Given the description of an element on the screen output the (x, y) to click on. 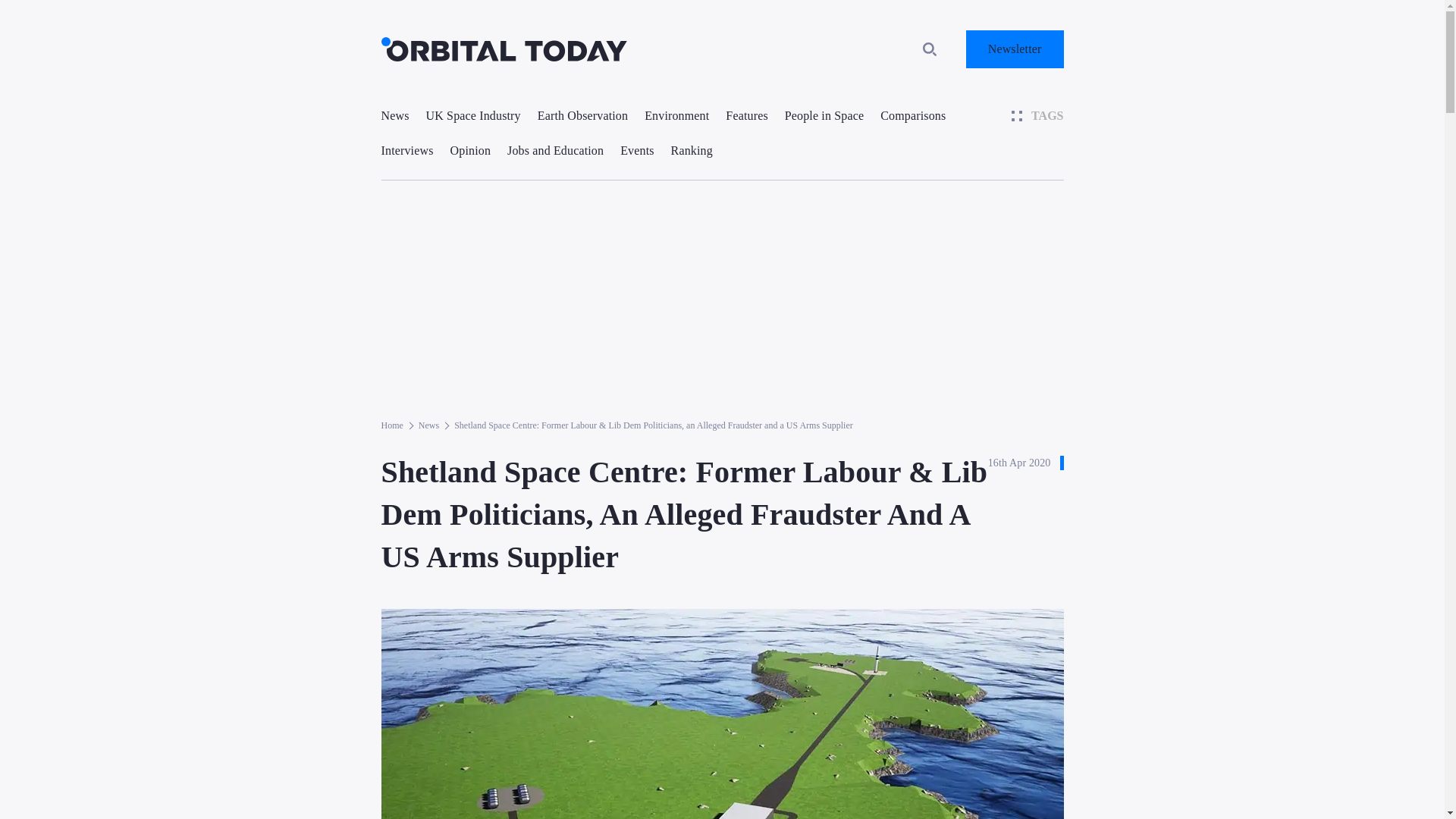
News (394, 115)
Features (746, 115)
Comparisons (912, 115)
TAGS (1036, 115)
UK Space Industry (473, 115)
Events (636, 150)
Jobs and Education (555, 150)
People in Space (823, 115)
Environment (677, 115)
Opinion (470, 150)
Earth Observation (582, 115)
Ranking (692, 150)
Interviews (406, 150)
Newsletter (1015, 48)
